Given the description of an element on the screen output the (x, y) to click on. 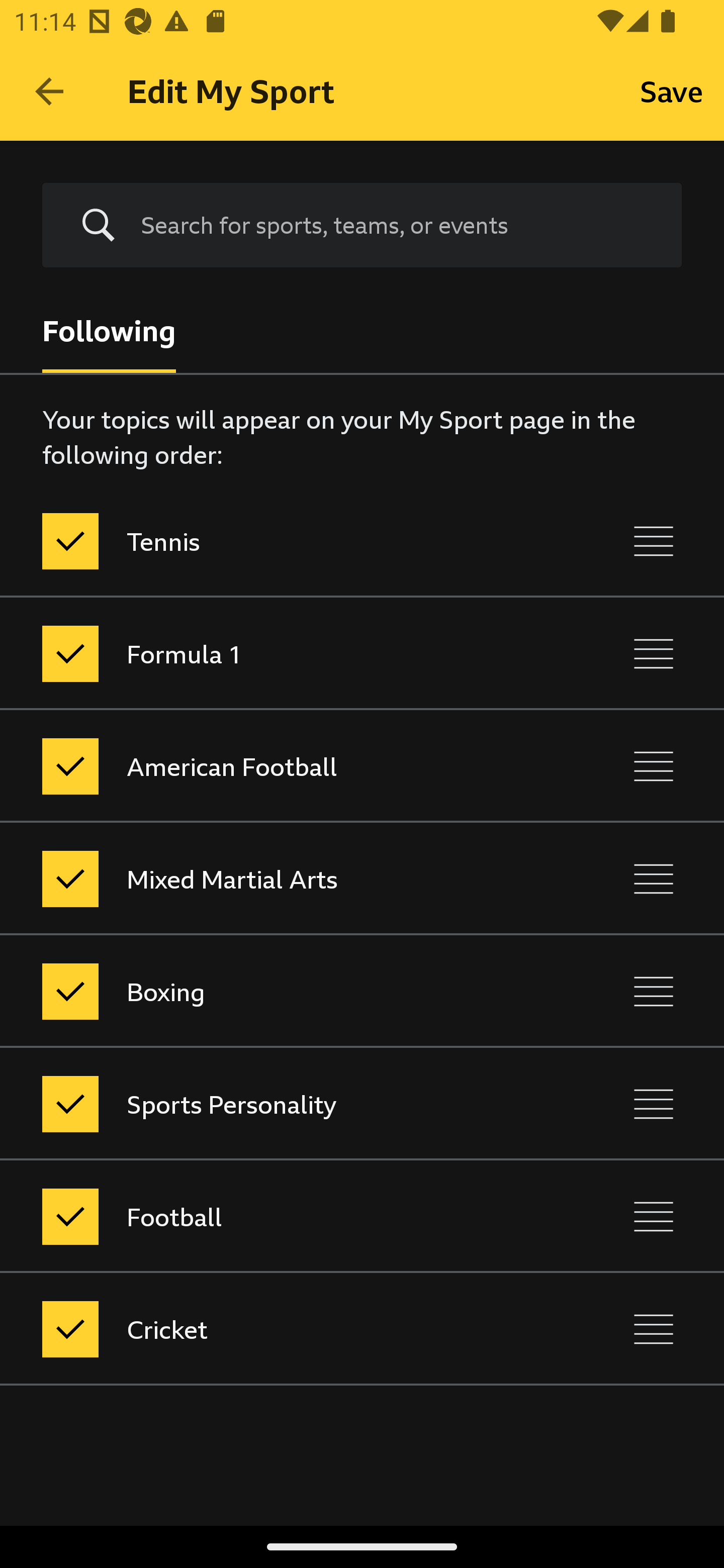
Navigate up (49, 91)
Save (671, 90)
Search for sports, teams, or events (361, 225)
Search for sports, teams, or events (396, 224)
Tennis (277, 540)
Reorder Tennis (653, 540)
Formula 1 (277, 653)
Reorder Formula 1 (653, 653)
American Football (277, 766)
Reorder American Football (653, 766)
Mixed Martial Arts (277, 878)
Reorder Mixed Martial Arts (653, 878)
Boxing (277, 990)
Reorder Boxing (653, 990)
Sports Personality (277, 1103)
Reorder Sports Personality (653, 1103)
Football (277, 1216)
Reorder Football (653, 1216)
Cricket (277, 1329)
Reorder Cricket (653, 1329)
